Given the description of an element on the screen output the (x, y) to click on. 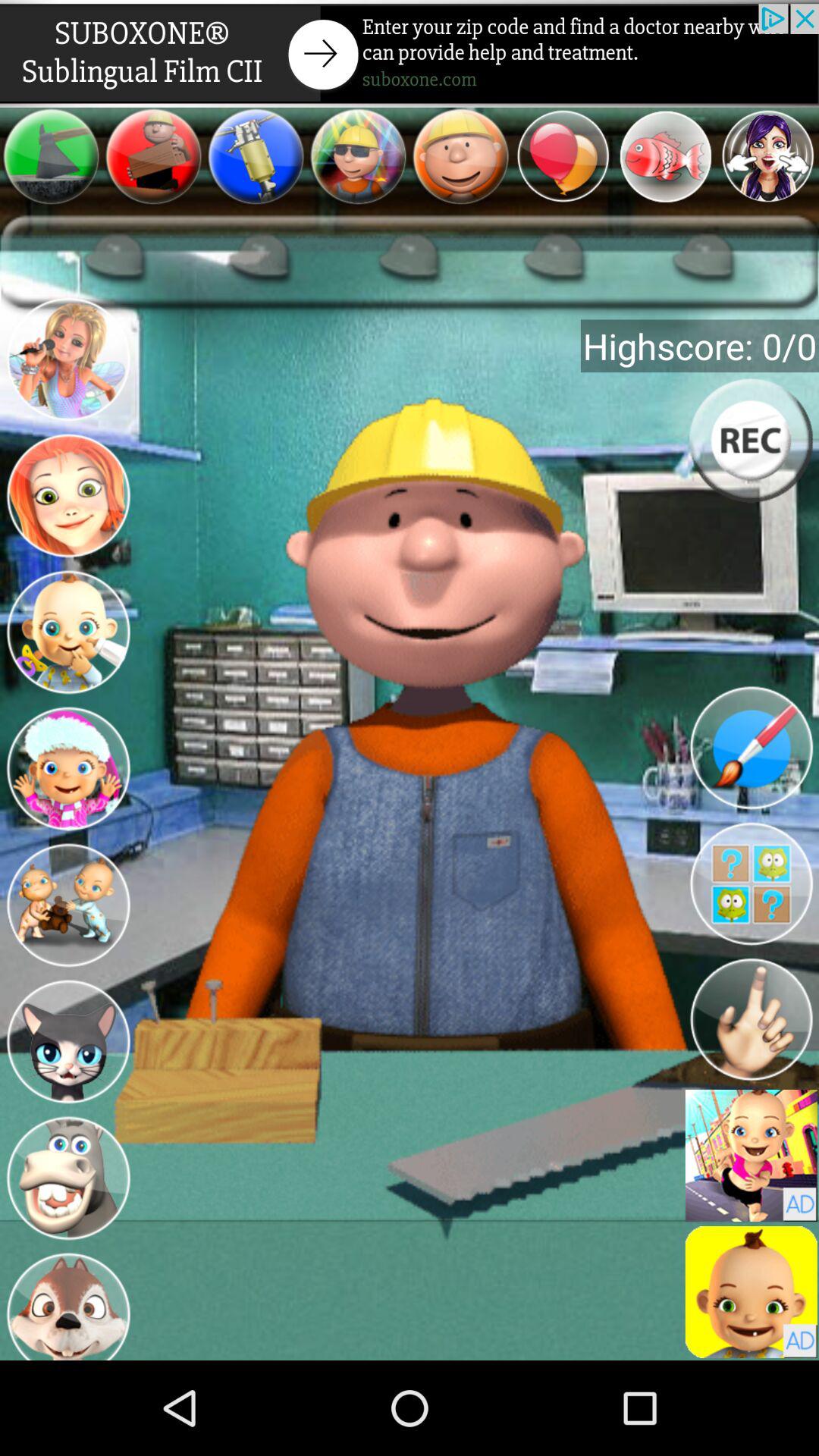
go to site (409, 53)
